Given the description of an element on the screen output the (x, y) to click on. 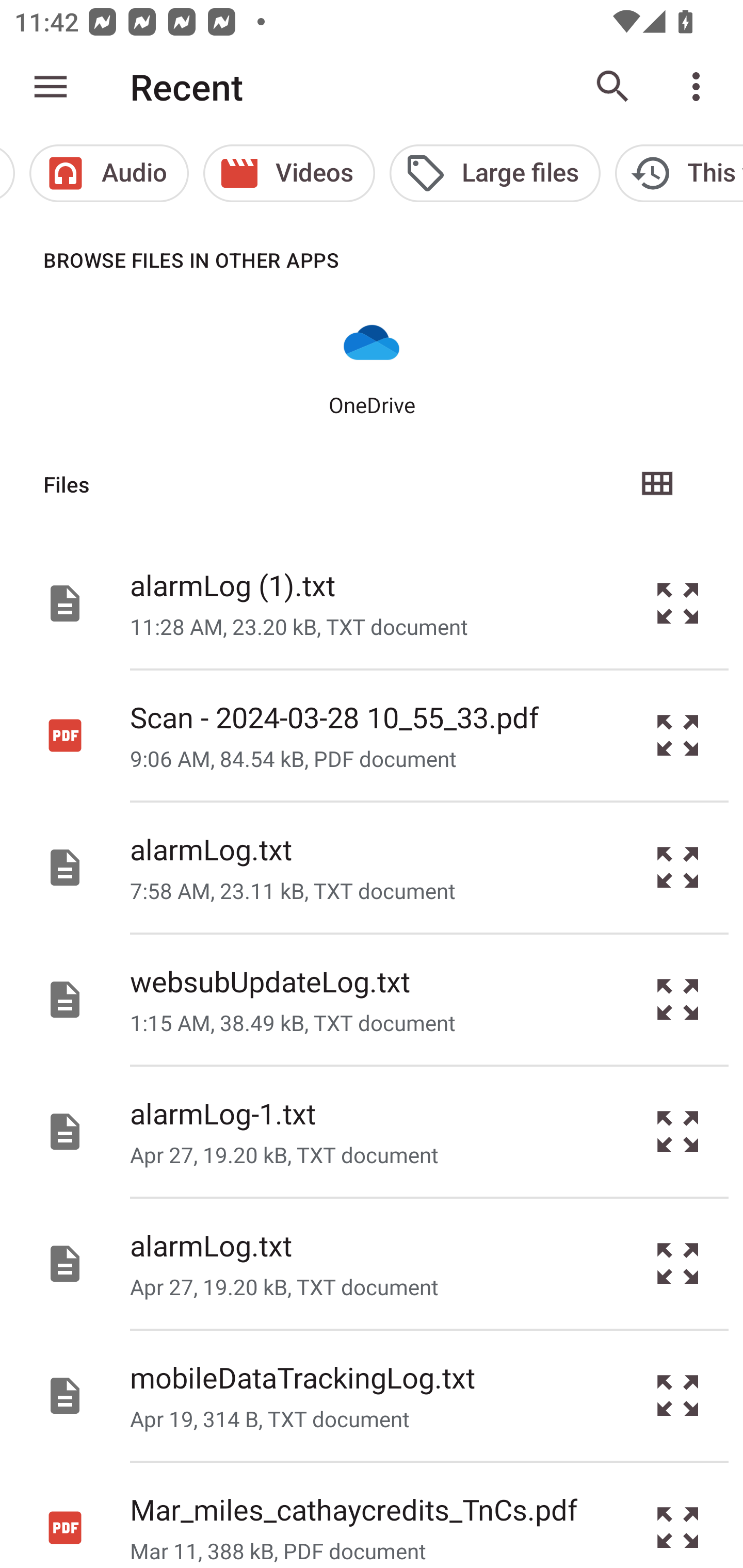
Show roots (50, 86)
Search (612, 86)
More options (699, 86)
Audio (108, 173)
Videos (289, 173)
Large files (494, 173)
This week (679, 173)
OneDrive (371, 365)
Grid view (655, 484)
Preview the file alarmLog (1).txt (677, 602)
Preview the file Scan - 2024-03-28 10_55_33.pdf (677, 736)
Preview the file alarmLog.txt (677, 867)
Preview the file websubUpdateLog.txt (677, 999)
Preview the file alarmLog-1.txt (677, 1131)
Preview the file alarmLog.txt (677, 1262)
Preview the file mobileDataTrackingLog.txt (677, 1396)
Preview the file Mar_miles_cathaycredits_TnCs.pdf (677, 1515)
